Given the description of an element on the screen output the (x, y) to click on. 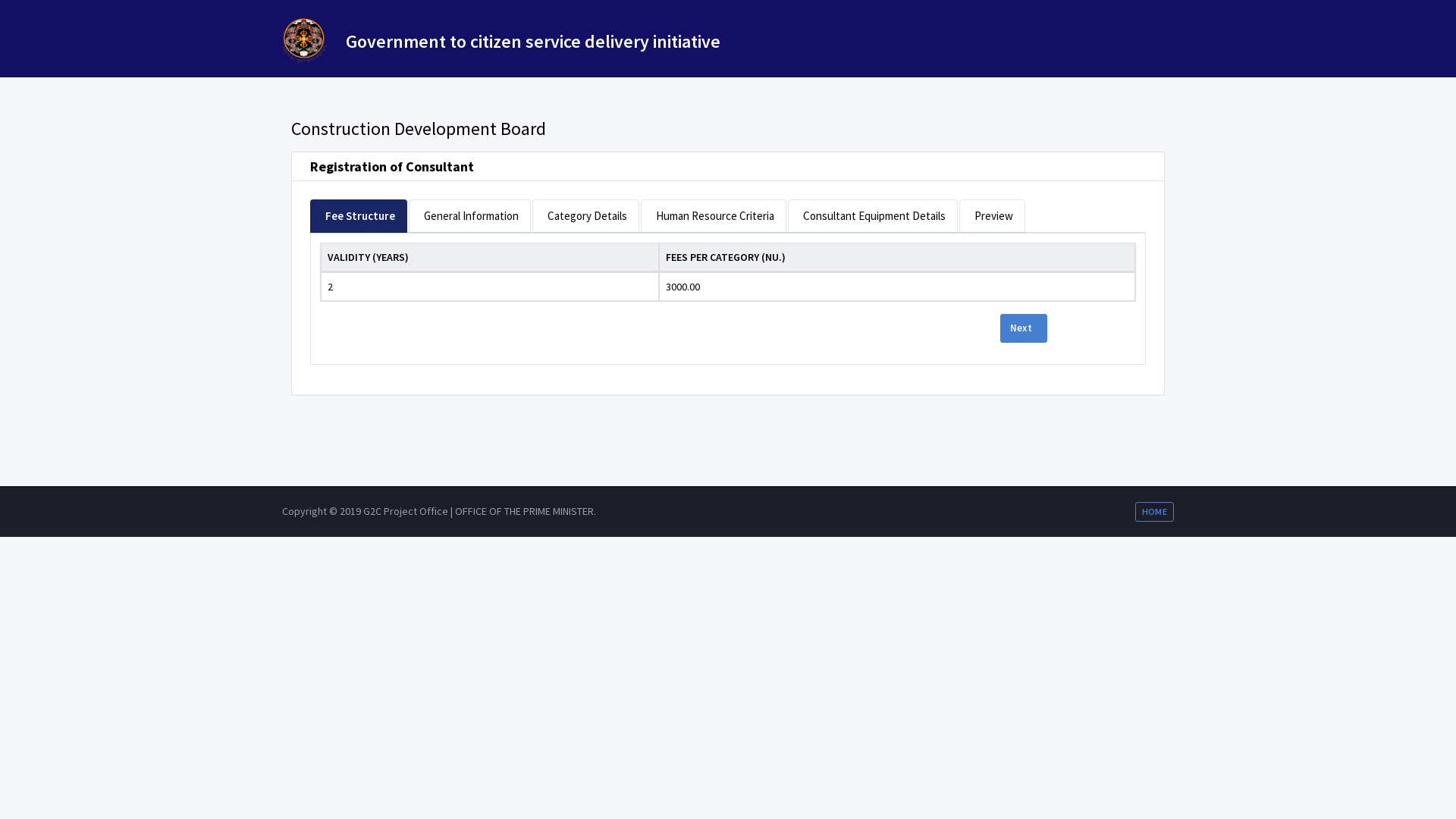
Fee Structure Element type: text (358, 215)
Preview Element type: text (992, 215)
Consultant Equipment Details Element type: text (872, 215)
Next   Element type: text (1023, 327)
HOME Element type: text (1154, 511)
Category Details Element type: text (585, 215)
General Information Element type: text (469, 215)
Human Resource Criteria Element type: text (713, 215)
